Given the description of an element on the screen output the (x, y) to click on. 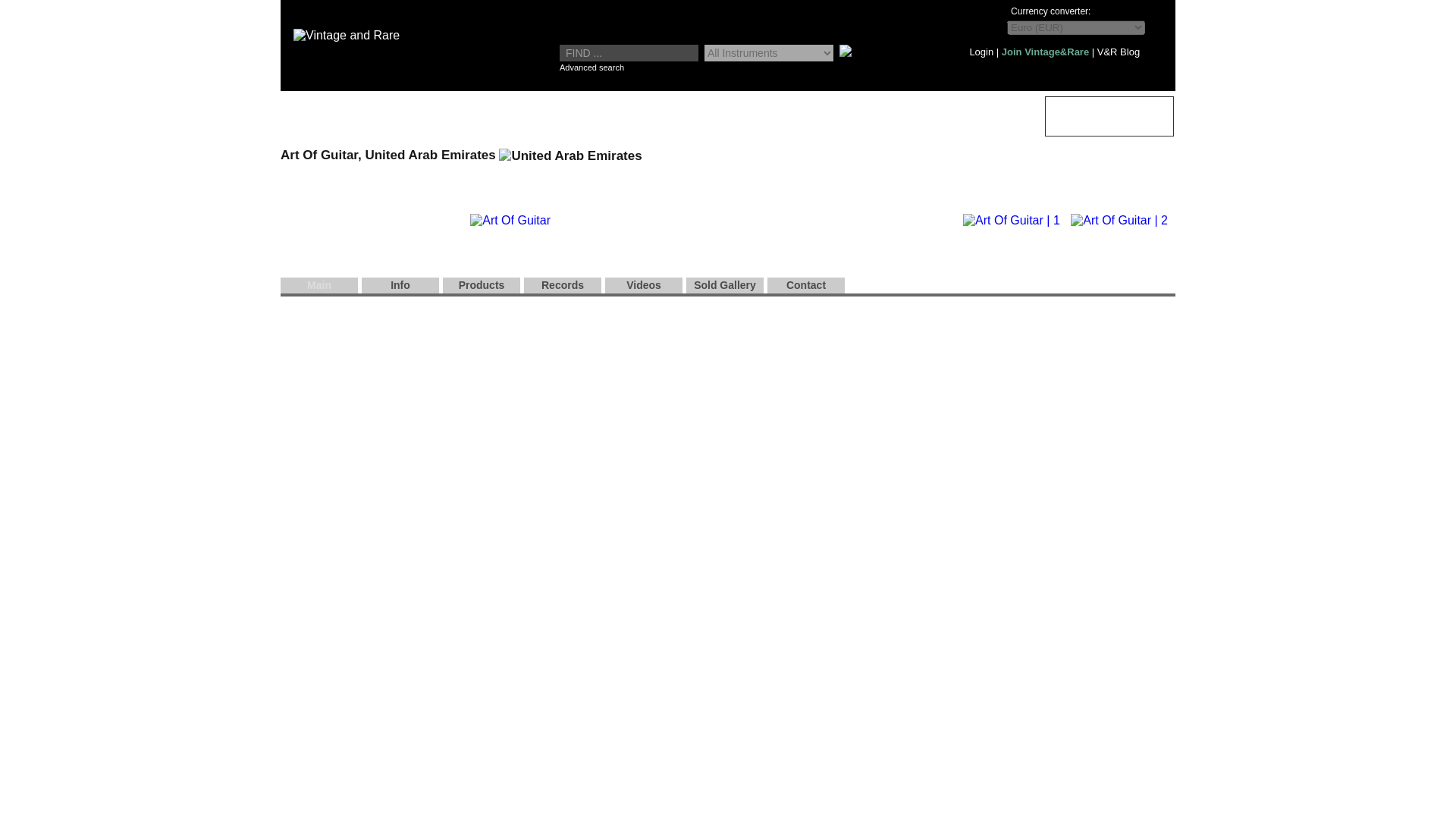
Videos (643, 285)
Drums (832, 120)
Products (480, 285)
Basses (451, 120)
Products (480, 285)
Contact (805, 285)
Sold Gallery (723, 285)
Records (562, 285)
Effects (578, 120)
Main (319, 285)
Advanced search (591, 67)
Pianos (960, 120)
Info (400, 285)
Records (1092, 120)
FIND ... (628, 53)
